Given the description of an element on the screen output the (x, y) to click on. 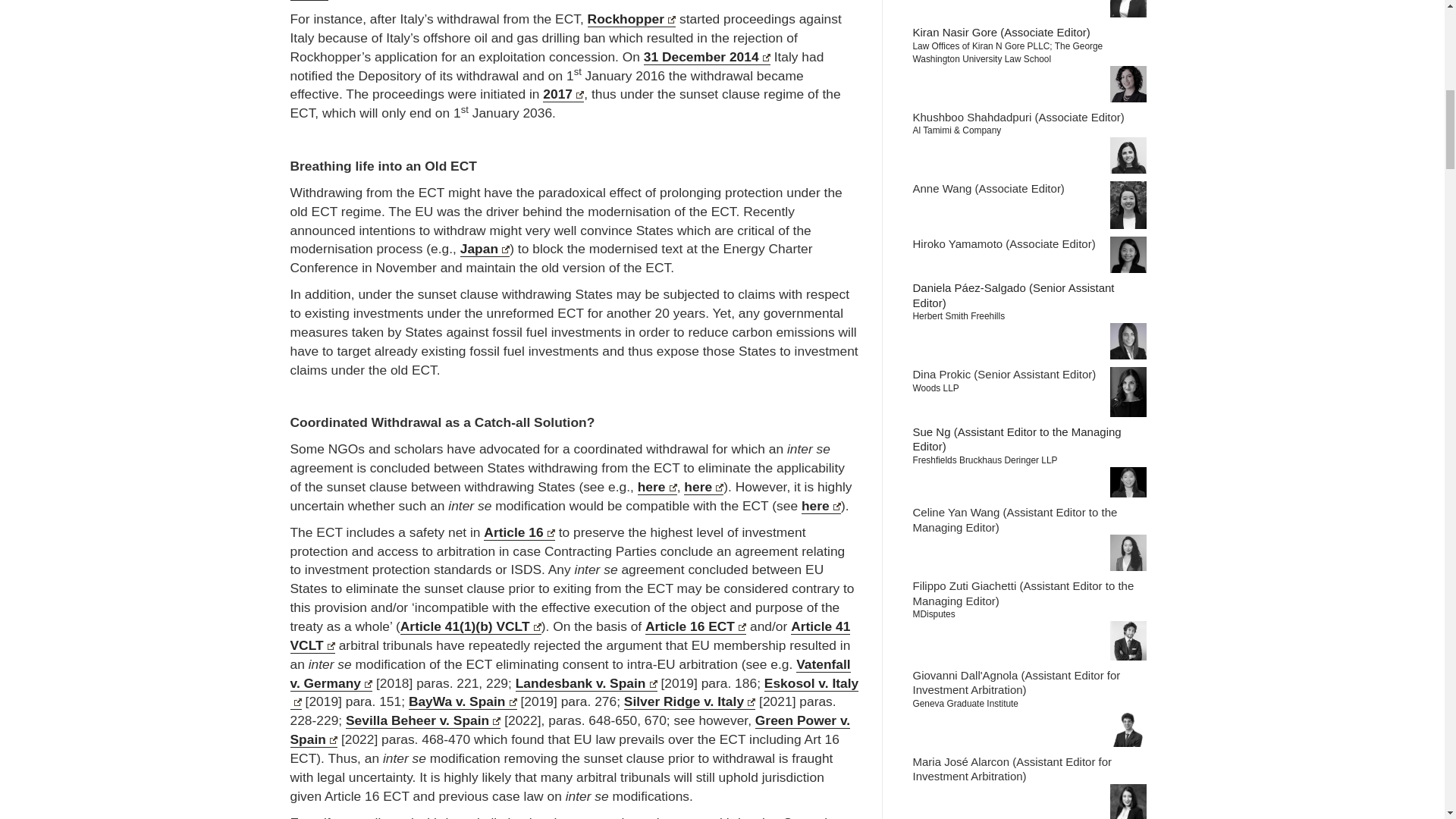
here (657, 487)
31 December 2014 (706, 57)
2017 (563, 94)
Rockhopper (632, 19)
Japan (484, 248)
